Given the description of an element on the screen output the (x, y) to click on. 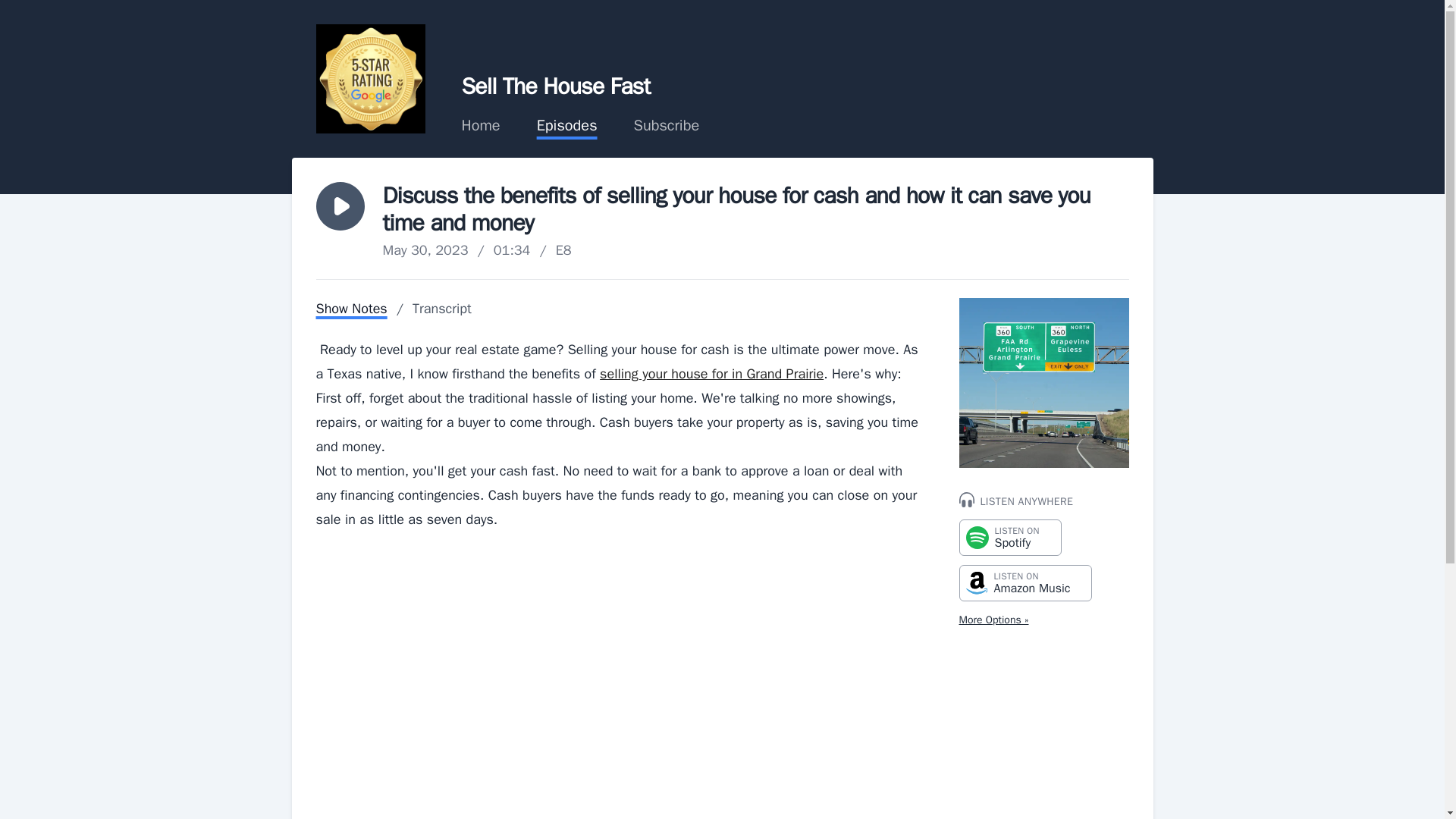
YouTube video player (1025, 583)
Listen to Sell The House Fast on Amazon Music (542, 677)
Play Episode (1025, 583)
View episode details (339, 205)
Home (351, 308)
Home (370, 78)
View episode transcript (480, 125)
Listen to Sell The House Fast on Spotify (441, 308)
